Given the description of an element on the screen output the (x, y) to click on. 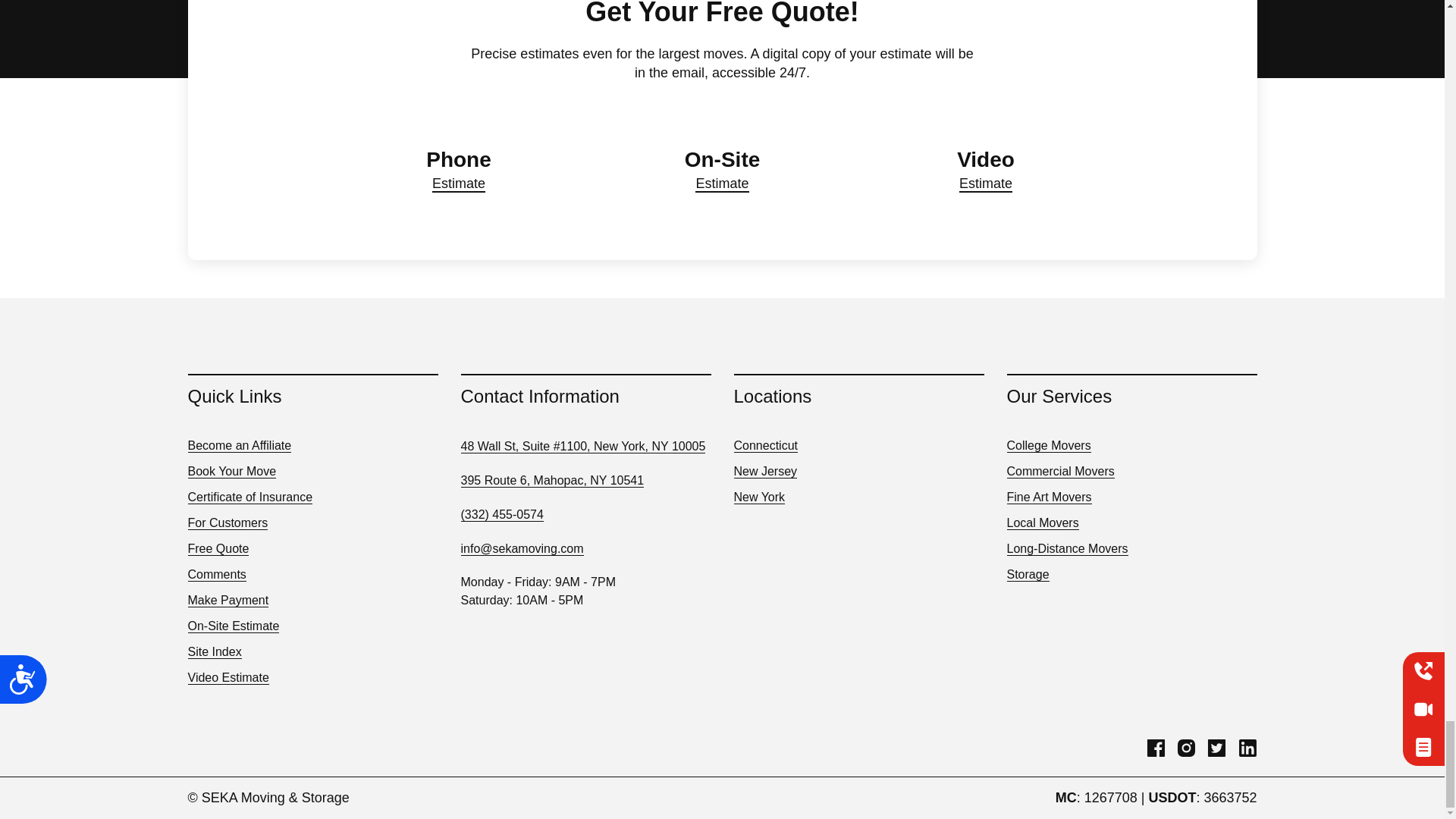
SEKA Moving on Twitter (1216, 753)
SEKA Moving on LinkedIn (1246, 753)
SEKA Moving on Facebook (1156, 753)
SEKA Moving on Instagram (1185, 753)
